Given the description of an element on the screen output the (x, y) to click on. 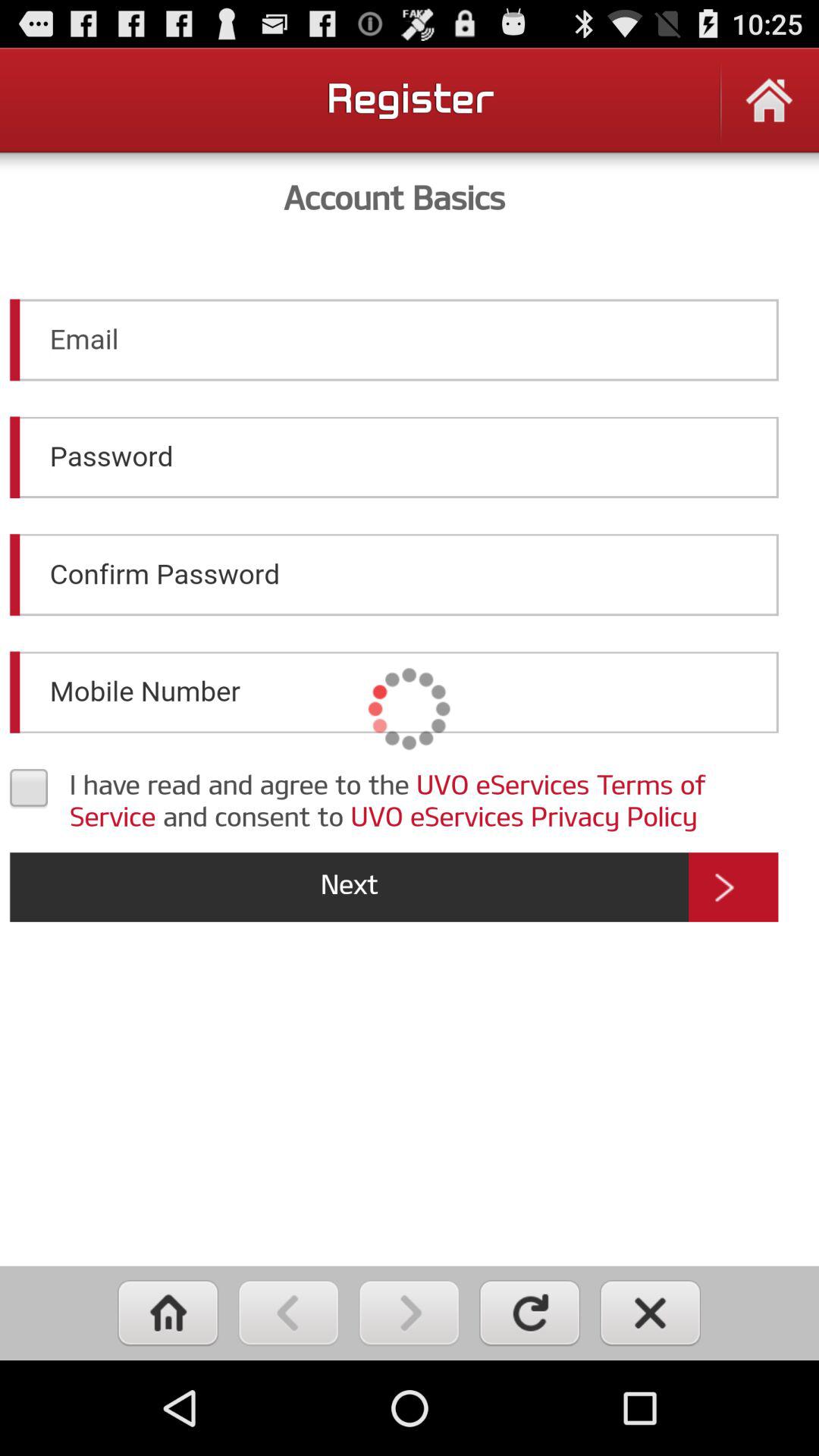
go to next page (408, 1313)
